Given the description of an element on the screen output the (x, y) to click on. 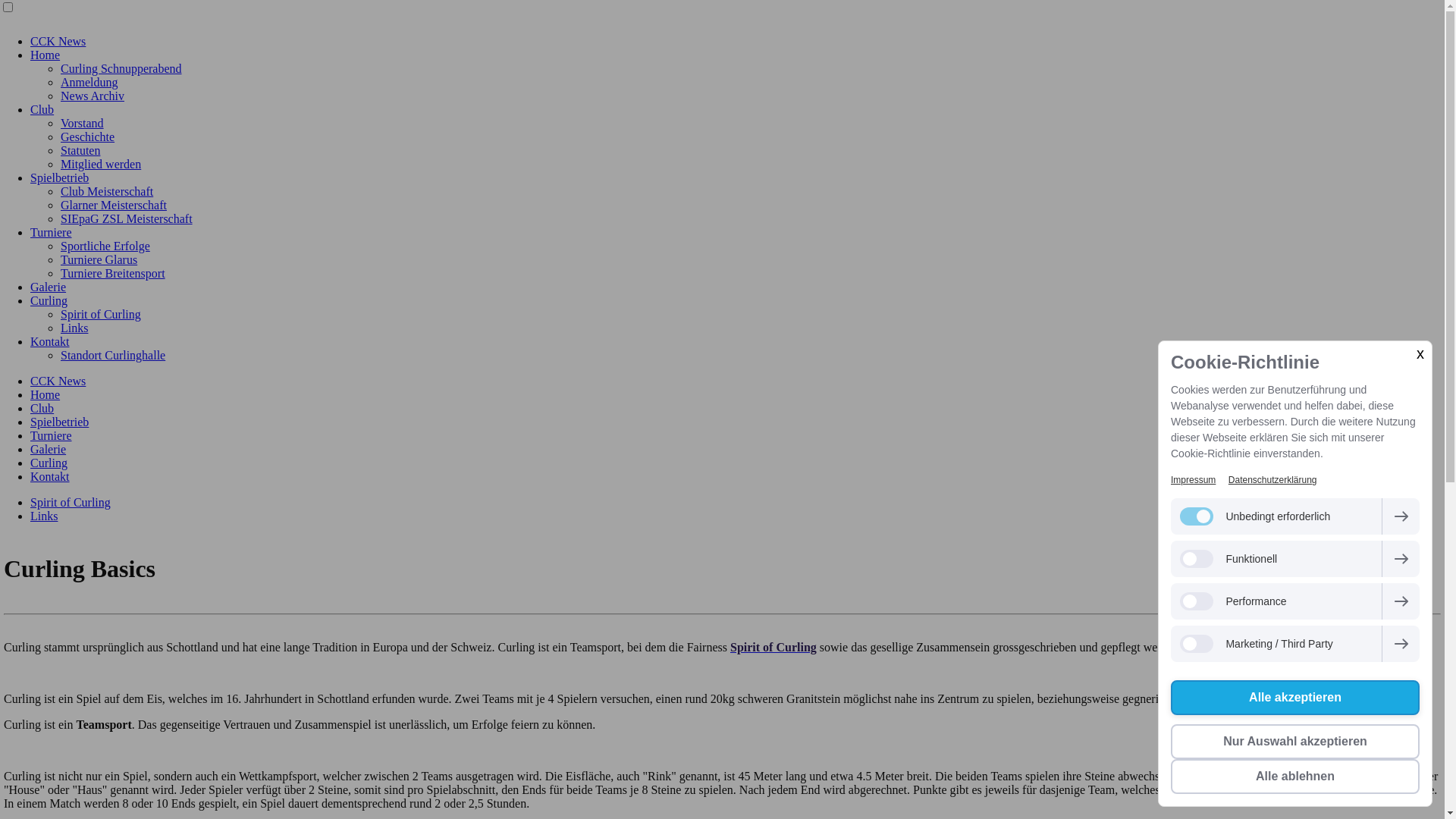
Anmeldung Element type: text (89, 81)
Glarner Meisterschaft Element type: text (113, 204)
Sportliche Erfolge Element type: text (105, 245)
CCK News Element type: text (57, 380)
Spirit of Curling Element type: text (70, 501)
Spielbetrieb Element type: text (59, 421)
News Archiv Element type: text (92, 95)
Nur Auswahl akzeptieren Element type: text (1294, 741)
Curling Schnupperabend Element type: text (121, 68)
Geschichte Element type: text (87, 136)
Alle ablehnen Element type: text (1294, 776)
Turniere Breitensport Element type: text (112, 272)
Turniere Element type: text (51, 231)
Standort Curlinghalle Element type: text (112, 354)
Impressum Element type: text (1192, 479)
Club Element type: text (41, 407)
Statuten Element type: text (80, 150)
Curling Element type: text (48, 462)
Spielbetrieb Element type: text (59, 177)
Alle akzeptieren Element type: text (1294, 697)
Curling Element type: text (48, 300)
Kontakt Element type: text (49, 476)
Home Element type: text (44, 394)
Galerie Element type: text (47, 448)
SIEpaG ZSL Meisterschaft Element type: text (126, 218)
Spirit of Curling Element type: text (100, 313)
Club Element type: text (41, 109)
Links Element type: text (73, 327)
Links Element type: text (43, 515)
Home Element type: text (44, 54)
Mitglied werden Element type: text (100, 163)
Vorstand Element type: text (81, 122)
Turniere Element type: text (51, 435)
Spirit of Curling Element type: text (773, 646)
Galerie Element type: text (47, 286)
Kontakt Element type: text (49, 341)
Turniere Glarus Element type: text (98, 259)
CCK News Element type: text (57, 40)
Club Meisterschaft Element type: text (106, 191)
